Given the description of an element on the screen output the (x, y) to click on. 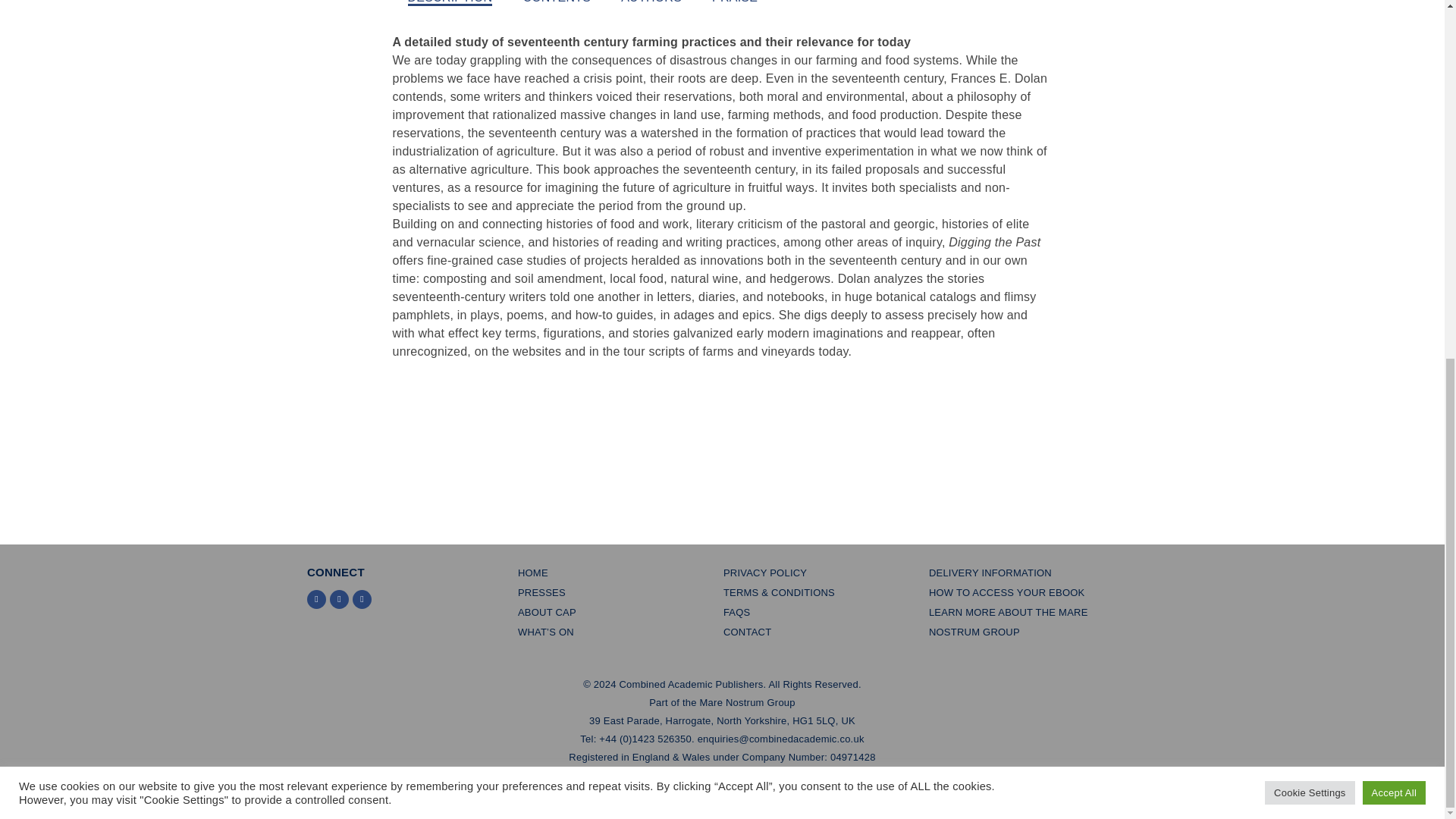
Follow us on Facebook (339, 599)
Follow us on Instagram (361, 599)
